Given the description of an element on the screen output the (x, y) to click on. 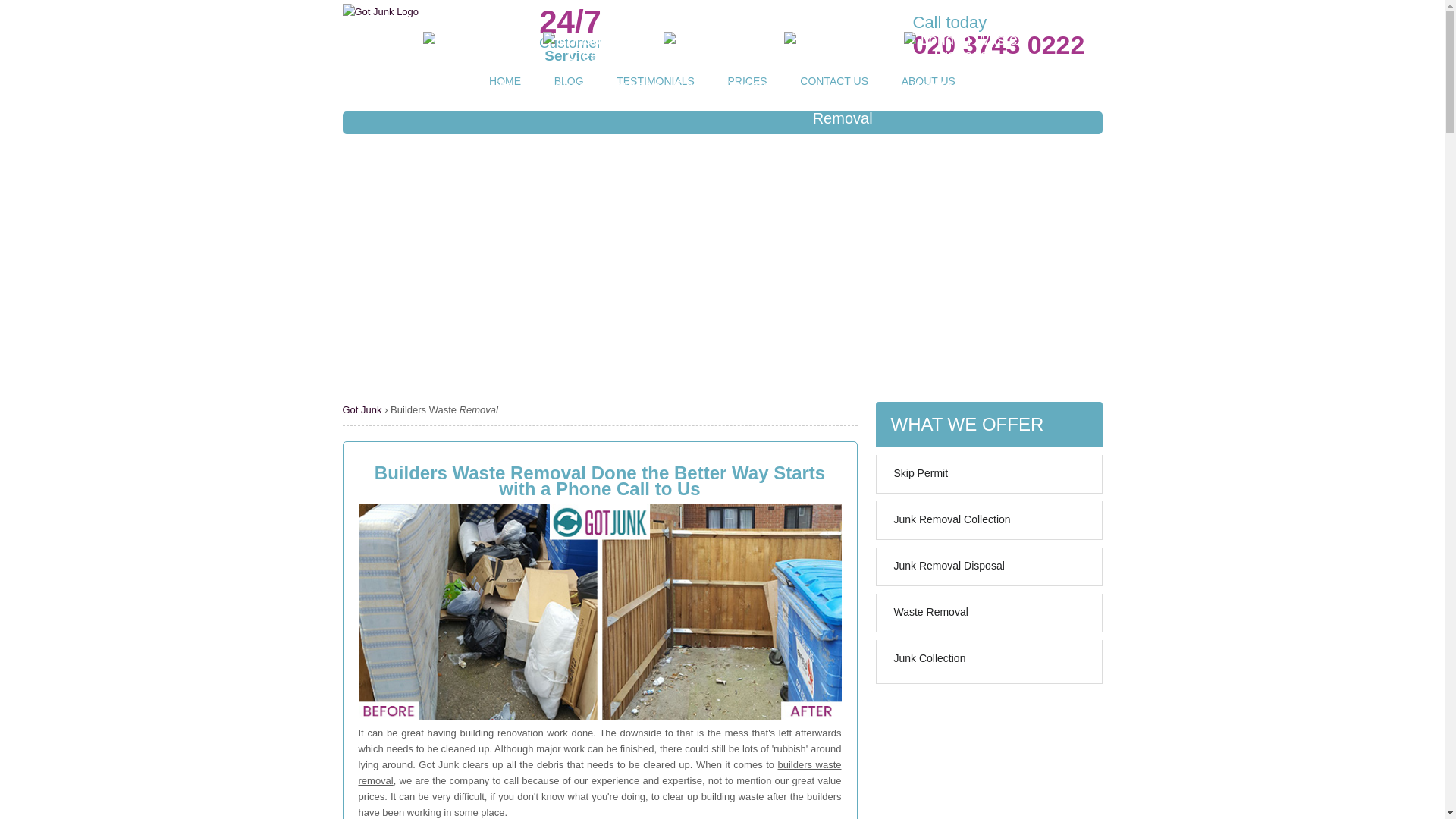
Waste Removal (983, 615)
CONTACT US (833, 81)
Junk Removal Disposal (983, 569)
House Clearance (602, 63)
020 3743 0222 (998, 44)
HOME (504, 81)
TESTIMONIALS (655, 81)
ABOUT US (928, 81)
BLOG (568, 81)
Got Junk (363, 409)
Skip Hire (481, 63)
Junk Collection (983, 661)
Junk Removal Collection (983, 523)
PRICES (748, 81)
Skip Permit (983, 477)
